Given the description of an element on the screen output the (x, y) to click on. 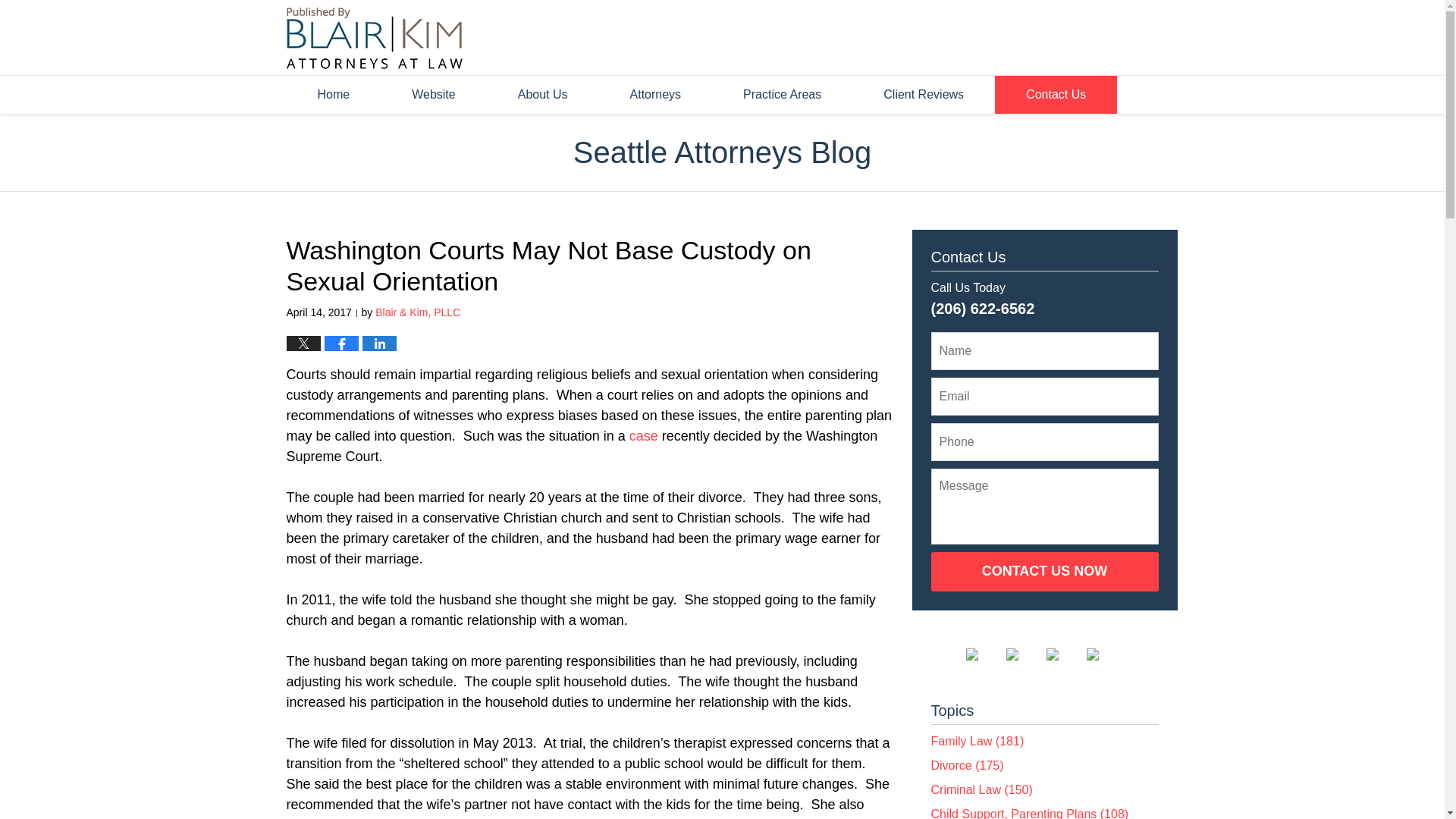
Facebook (984, 654)
Home (333, 94)
LinkedIn (1024, 654)
Attorneys (655, 94)
case (643, 435)
Client Reviews (922, 94)
Please enter a valid phone number. (1044, 442)
Seattle Attorneys Blog (374, 37)
About Us (542, 94)
Seattle Attorneys Blog (722, 151)
Feed (1104, 654)
Practice Areas (781, 94)
CONTACT US NOW (1044, 571)
Justia (1064, 654)
Website (433, 94)
